Given the description of an element on the screen output the (x, y) to click on. 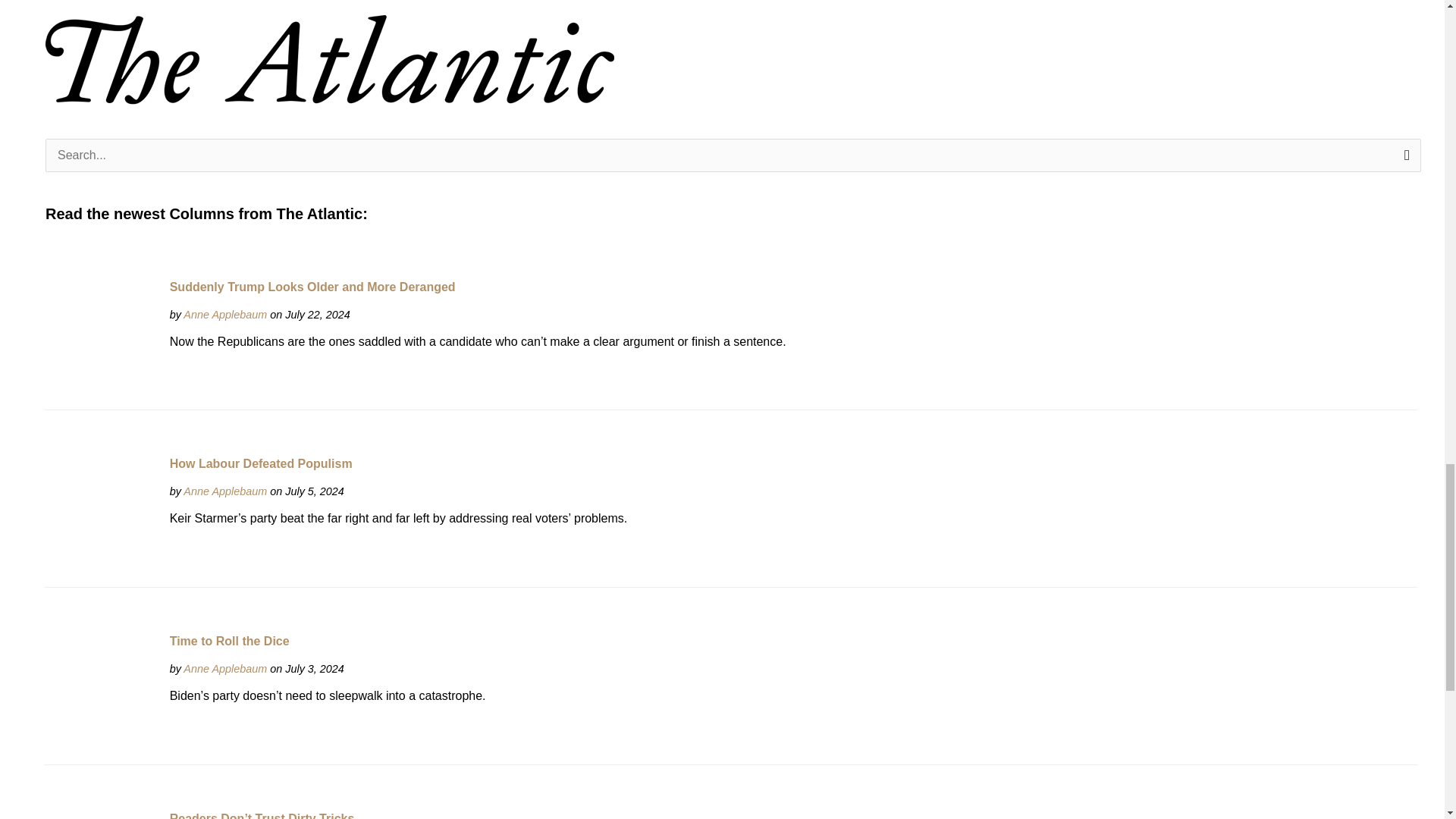
www.theatlantic.com (224, 314)
Suddenly Trump Looks Older and More Deranged (100, 333)
How Labour Defeated Populism (100, 511)
Time to Roll the Dice (100, 688)
www.theatlantic.com (224, 491)
